Given the description of an element on the screen output the (x, y) to click on. 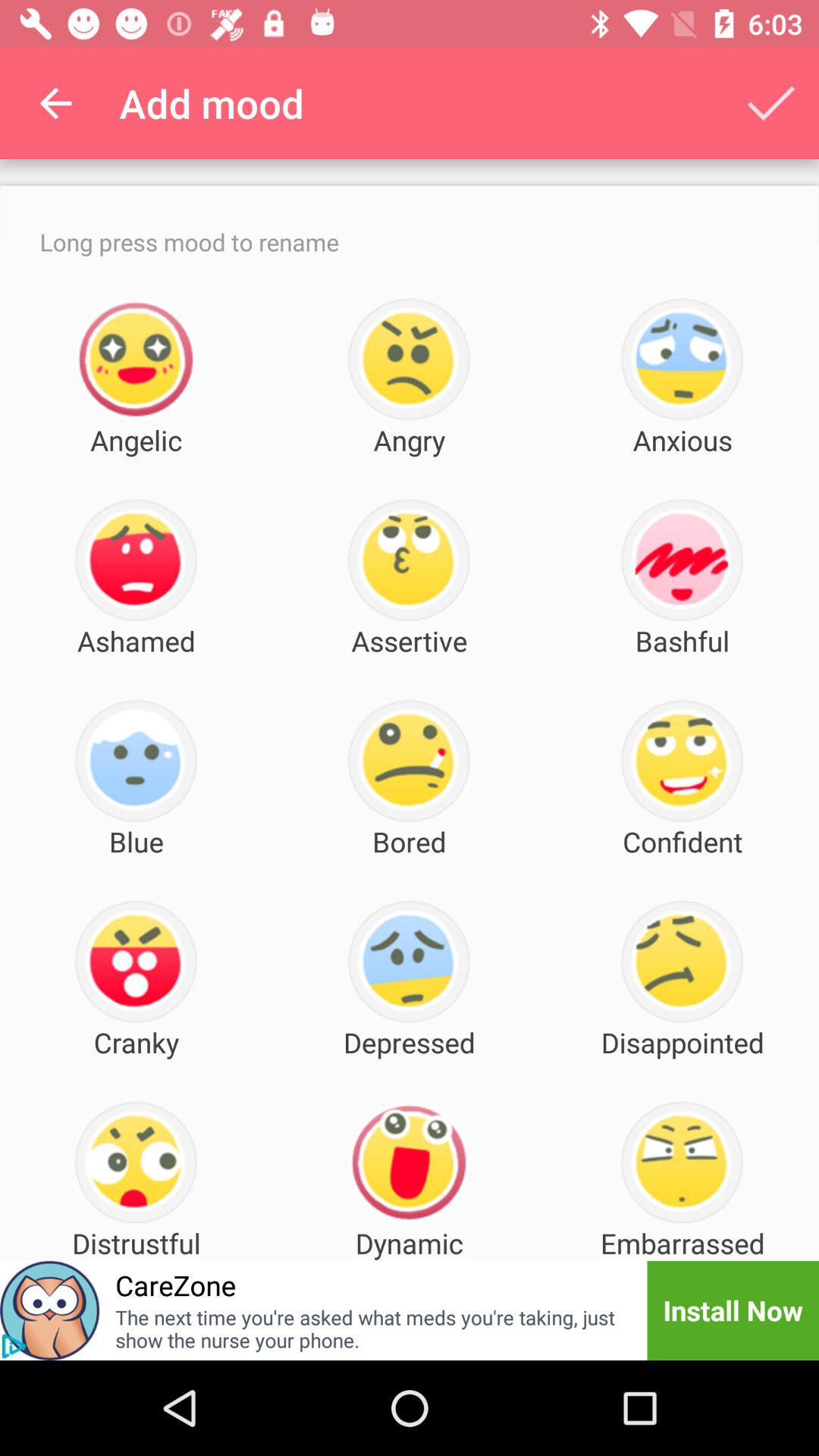
turn off the carezone item (175, 1285)
